Given the description of an element on the screen output the (x, y) to click on. 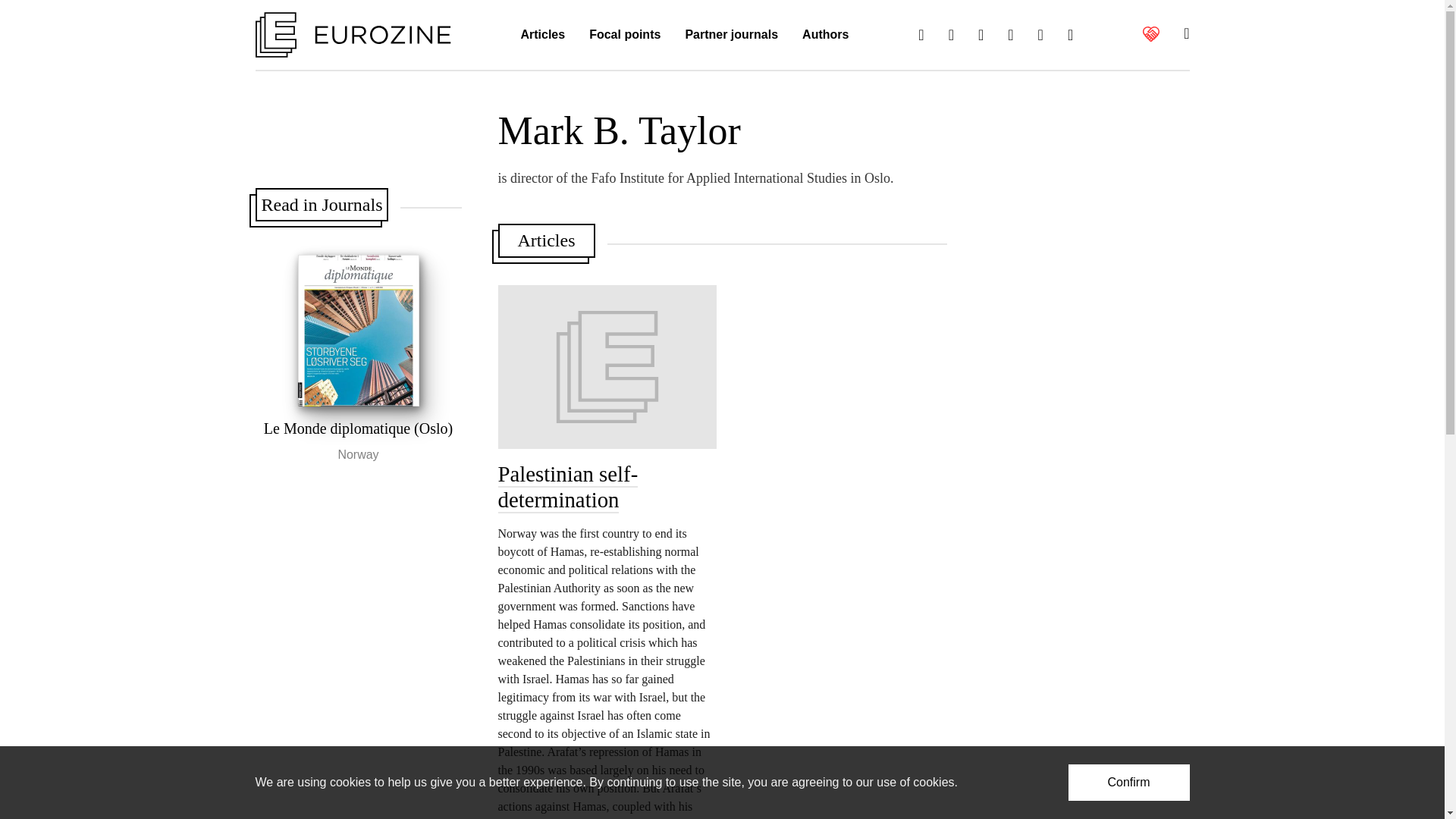
Articles (542, 34)
Confirm (1128, 782)
Partner journals (731, 34)
Authors (825, 34)
Focal points (624, 34)
